Given the description of an element on the screen output the (x, y) to click on. 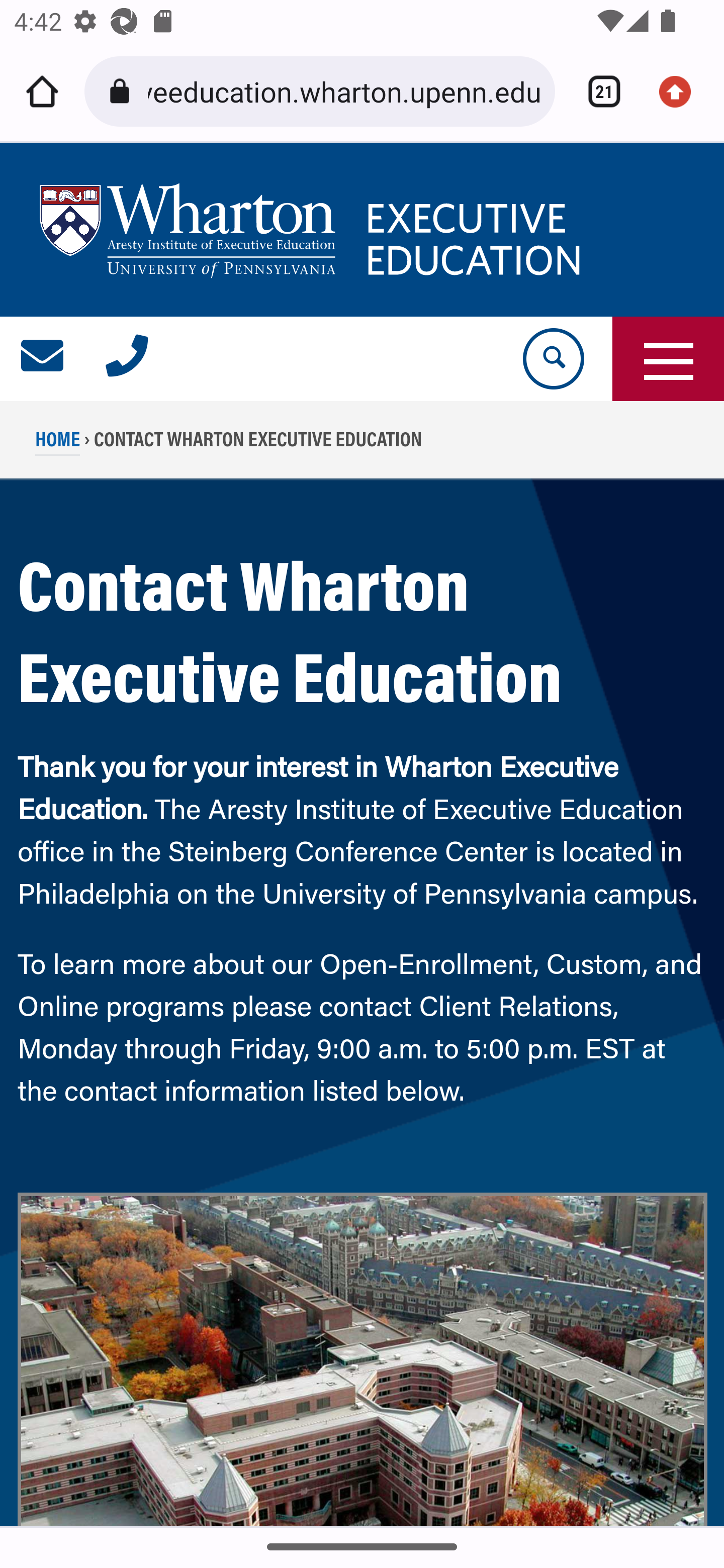
Home (42, 91)
Connection is secure (122, 91)
Switch or close tabs (597, 91)
Update available. More options (681, 91)
executiveeducation.wharton.upenn.edu/contact-us/ (343, 90)
Wharton Executive Education (313, 230)
 (43, 358)
 (127, 358)
Mobile menu toggle (668, 358)
 Search Wharton  (552, 358)
HOME (58, 444)
